Given the description of an element on the screen output the (x, y) to click on. 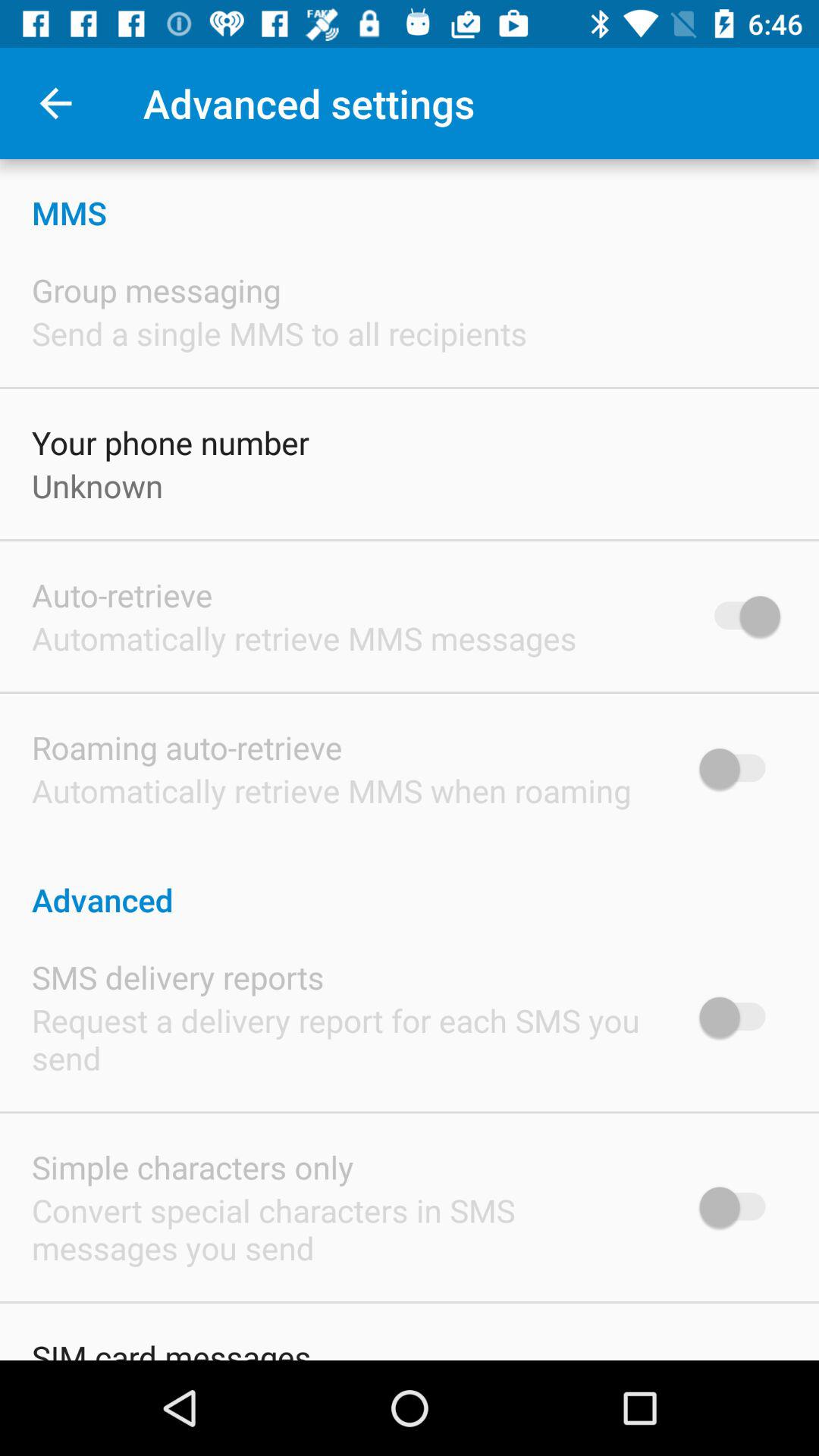
select the item below send a single icon (170, 442)
